Given the description of an element on the screen output the (x, y) to click on. 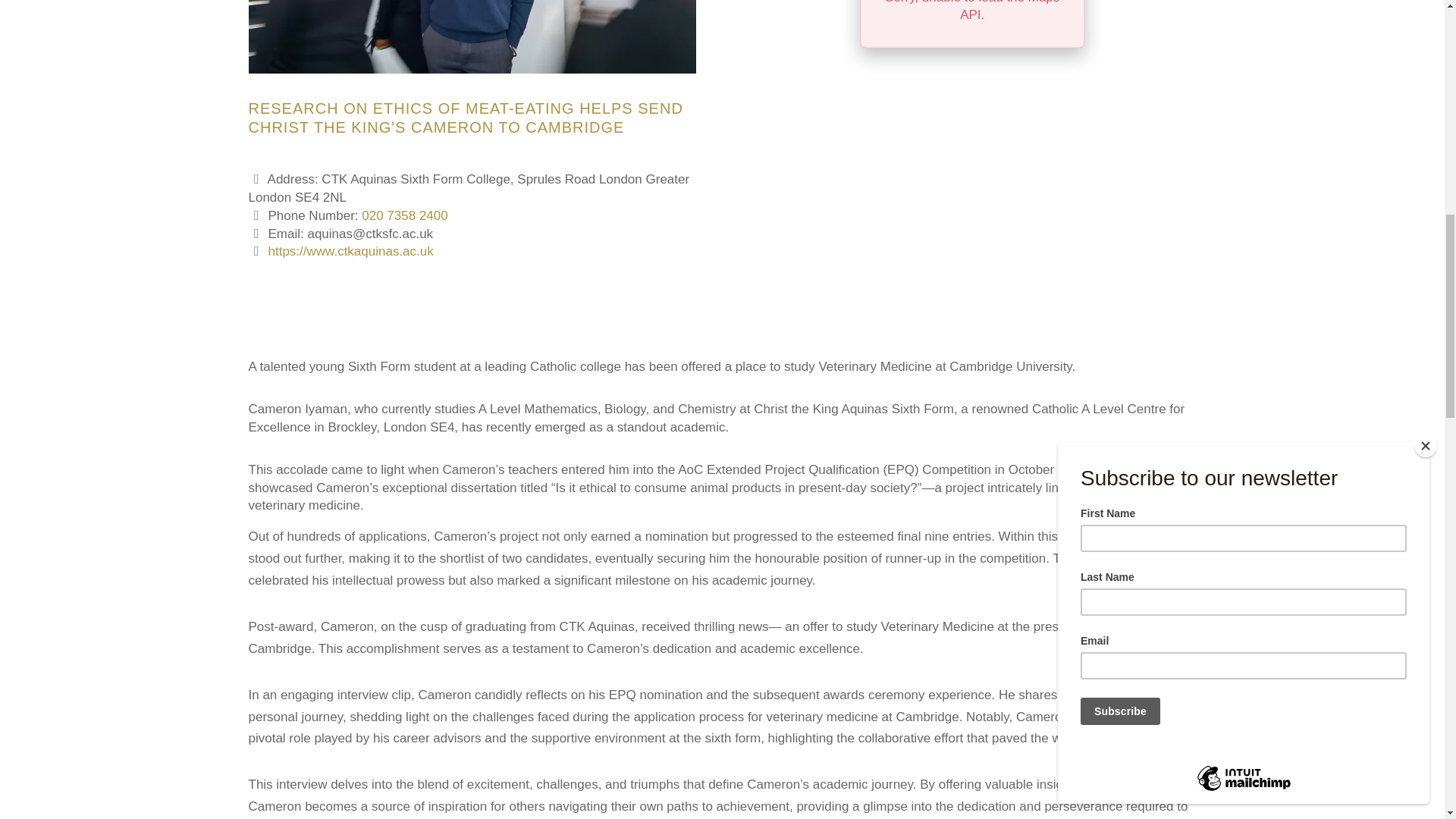
Next (662, 36)
Previous (281, 36)
